Given the description of an element on the screen output the (x, y) to click on. 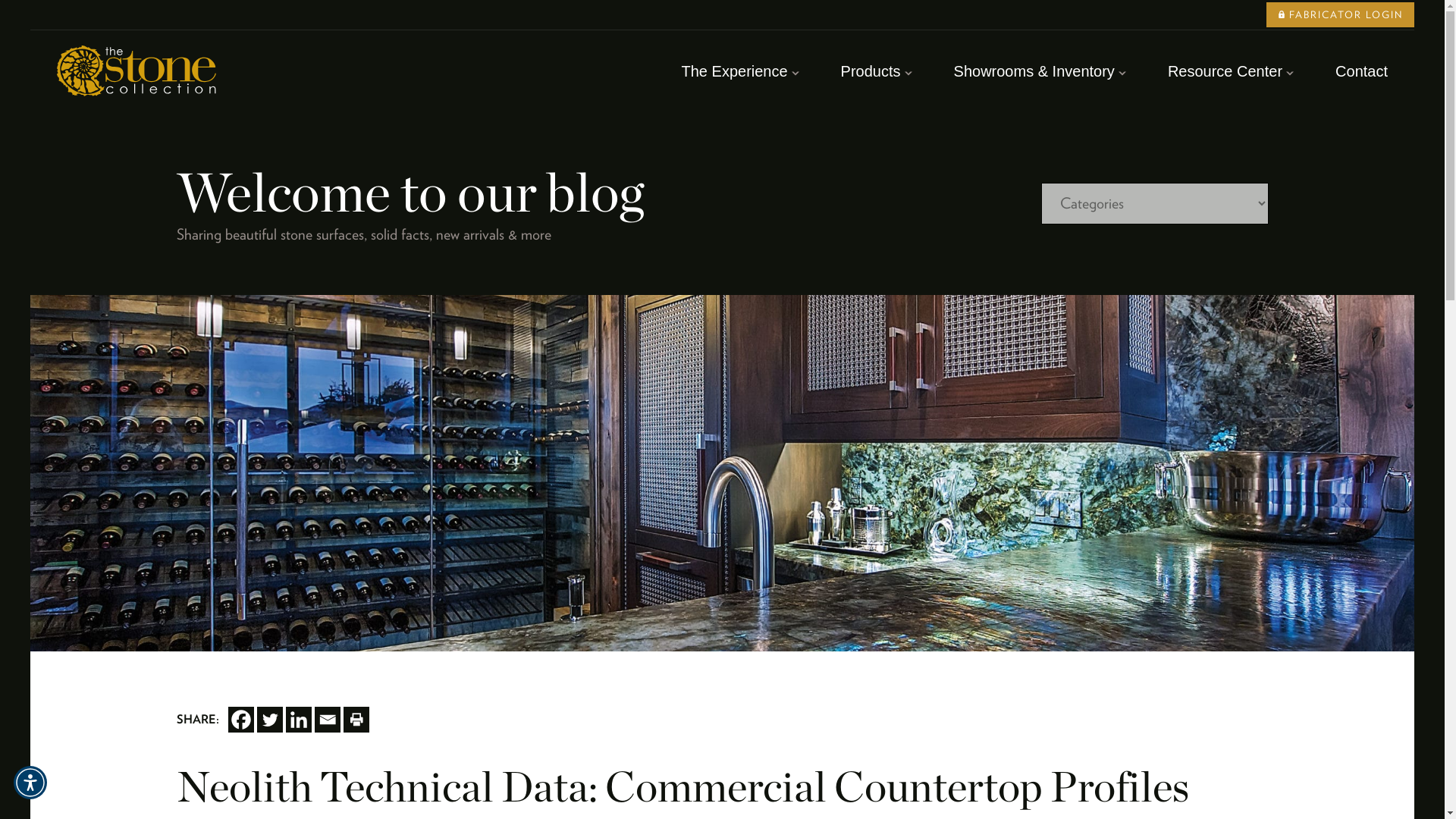
Email (326, 719)
FABRICATOR LOGIN (1339, 14)
Products (871, 71)
Facebook (240, 719)
Accessibility Menu (29, 782)
Print (355, 719)
The Experience (734, 71)
Linkedin (298, 719)
Twitter (269, 719)
Contact (1361, 71)
Resource Center (1224, 71)
